Given the description of an element on the screen output the (x, y) to click on. 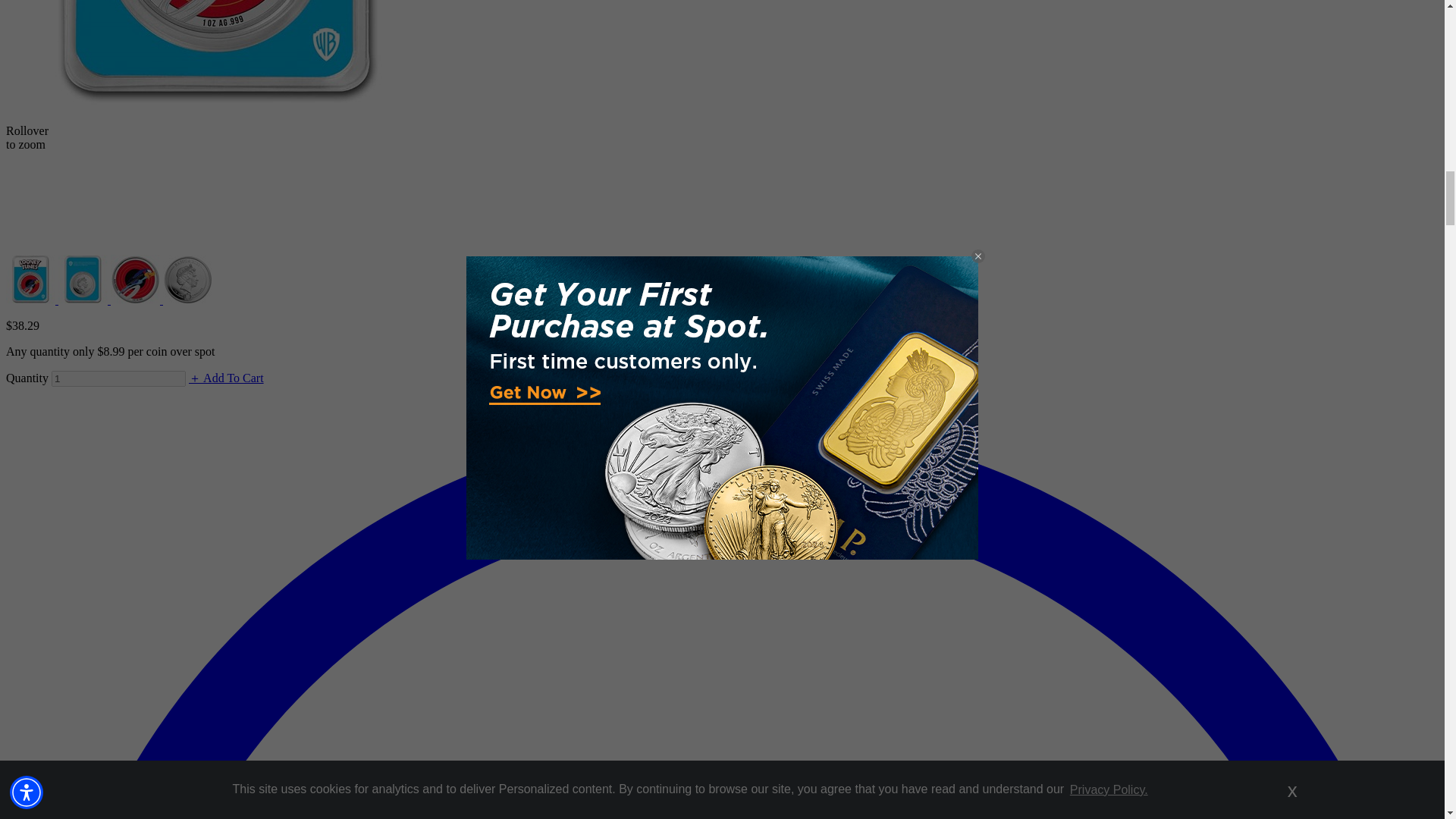
1 (118, 378)
